Given the description of an element on the screen output the (x, y) to click on. 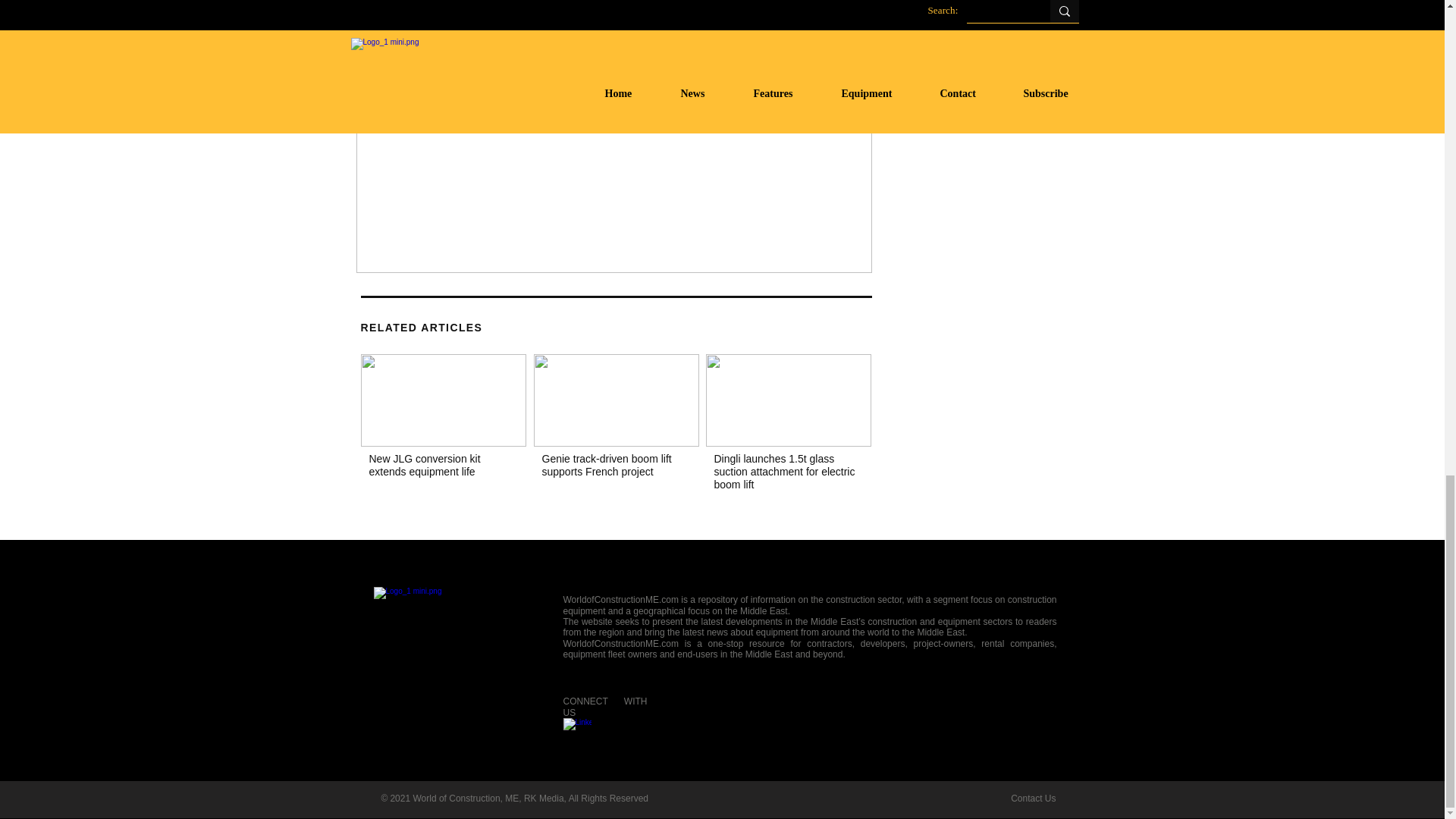
Dingli (787, 399)
JLG (443, 399)
Contact Us (1032, 798)
Genie (616, 399)
